Given the description of an element on the screen output the (x, y) to click on. 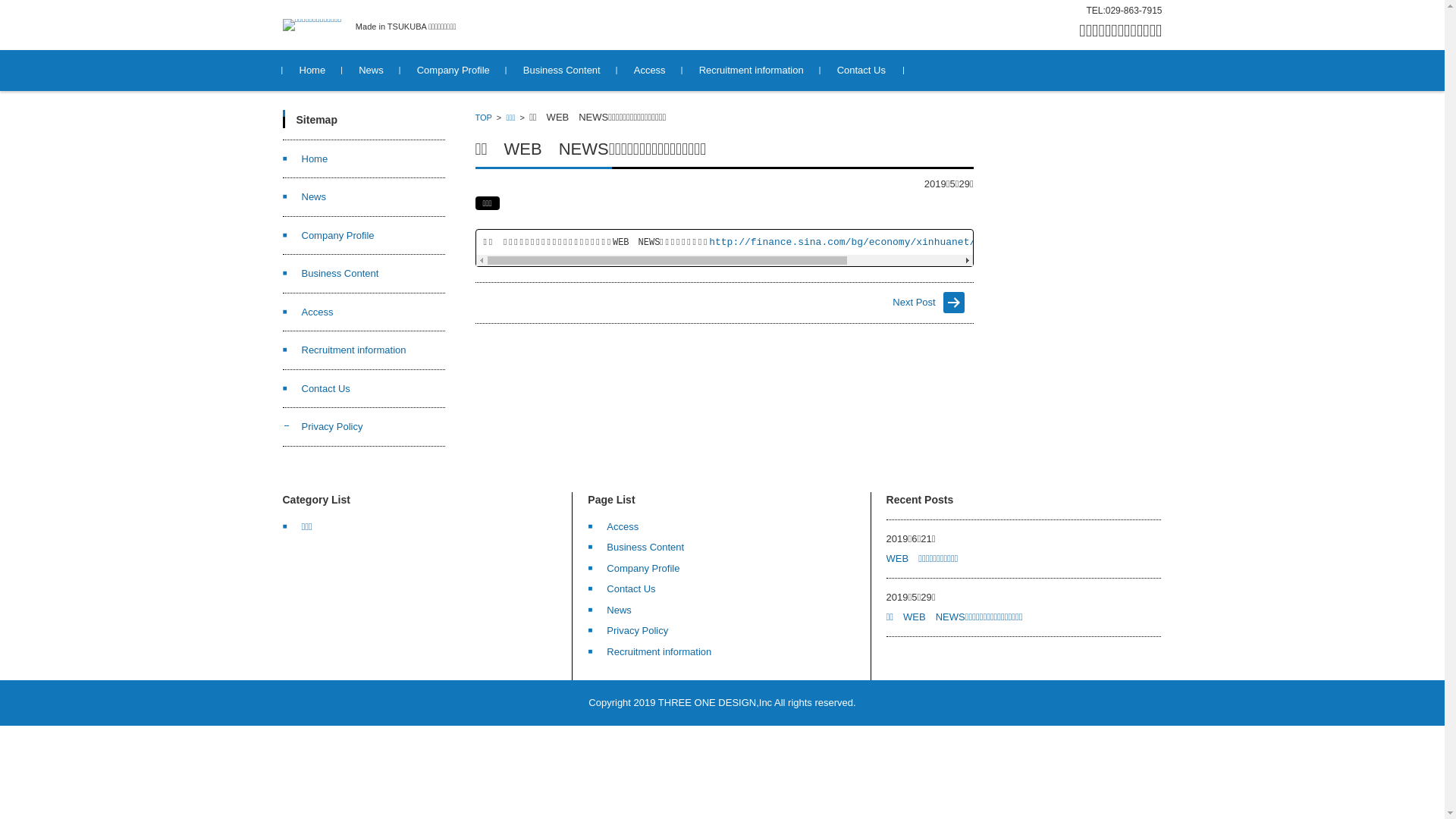
Contact Us Element type: text (861, 70)
Business Content Element type: text (330, 273)
Business Content Element type: text (561, 70)
Access Element type: text (307, 311)
News Element type: text (371, 70)
  Element type: text (599, 302)
Next Post Element type: text (848, 302)
Contact Us Element type: text (621, 588)
Recruitment information Element type: text (649, 651)
Recruitment information Element type: text (751, 70)
Access Element type: text (612, 525)
Privacy Policy Element type: text (627, 630)
Home Element type: text (304, 158)
Contact Us Element type: text (315, 387)
Recruitment information Element type: text (343, 349)
TOP Element type: text (483, 116)
Home Element type: text (312, 70)
Privacy Policy Element type: text (322, 426)
News Element type: text (609, 609)
Business Content Element type: text (635, 546)
Access Element type: text (649, 70)
News Element type: text (304, 196)
Company Profile Element type: text (633, 568)
Company Profile Element type: text (453, 70)
Company Profile Element type: text (327, 234)
